Given the description of an element on the screen output the (x, y) to click on. 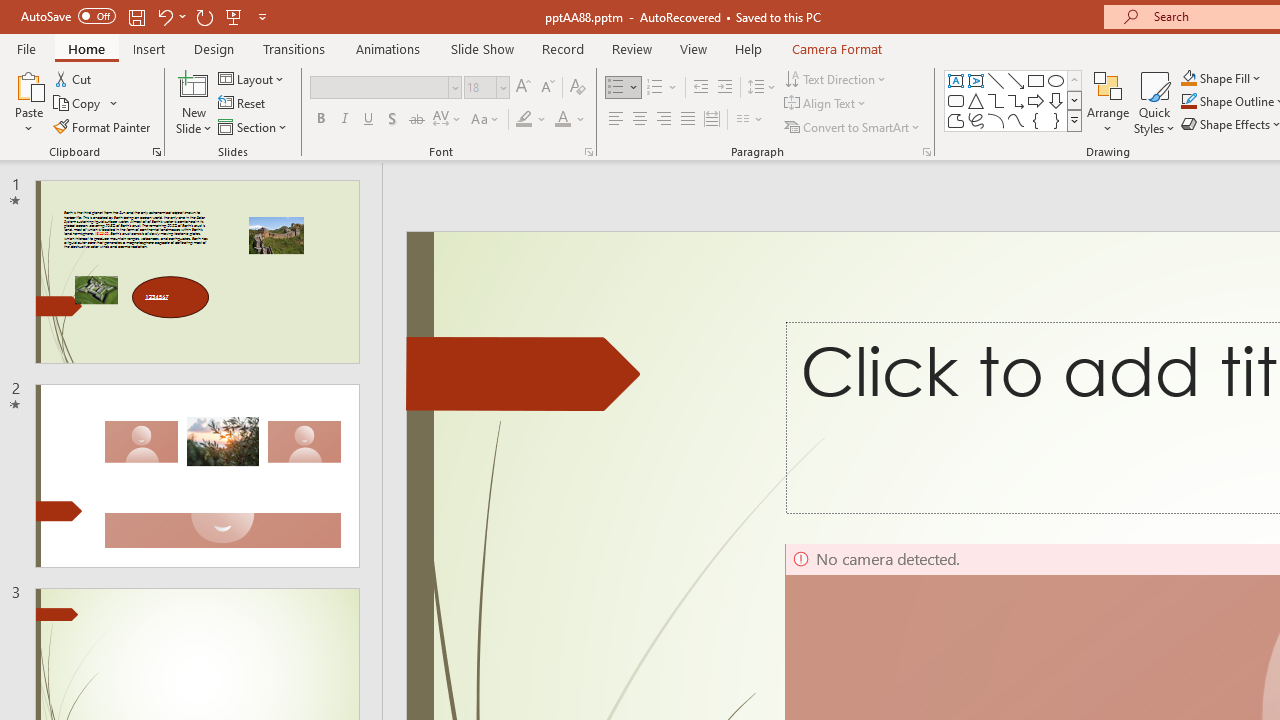
Character Spacing (447, 119)
Line Arrow (1016, 80)
Text Box (955, 80)
AutomationID: ShapesInsertGallery (1014, 100)
Font Size (486, 87)
Align Left (616, 119)
From Beginning (234, 15)
Arrow: Down (1055, 100)
Bullets (623, 87)
Shape Outline Teal, Accent 1 (1188, 101)
Numbering (654, 87)
Layout (252, 78)
Quick Styles (1154, 102)
Decrease Font Size (547, 87)
Class: NetUIImage (1075, 120)
